Given the description of an element on the screen output the (x, y) to click on. 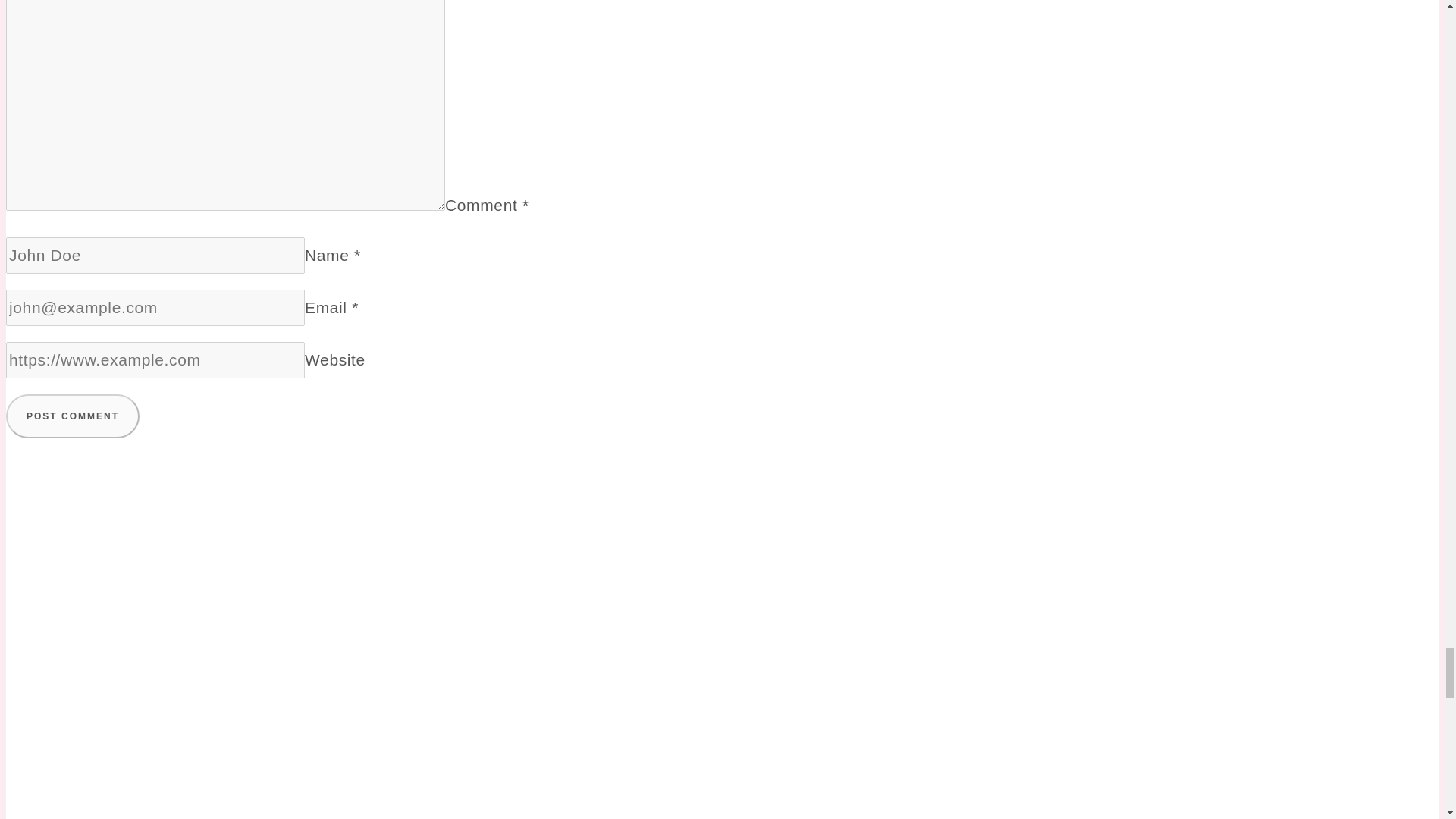
Post Comment (72, 415)
